Given the description of an element on the screen output the (x, y) to click on. 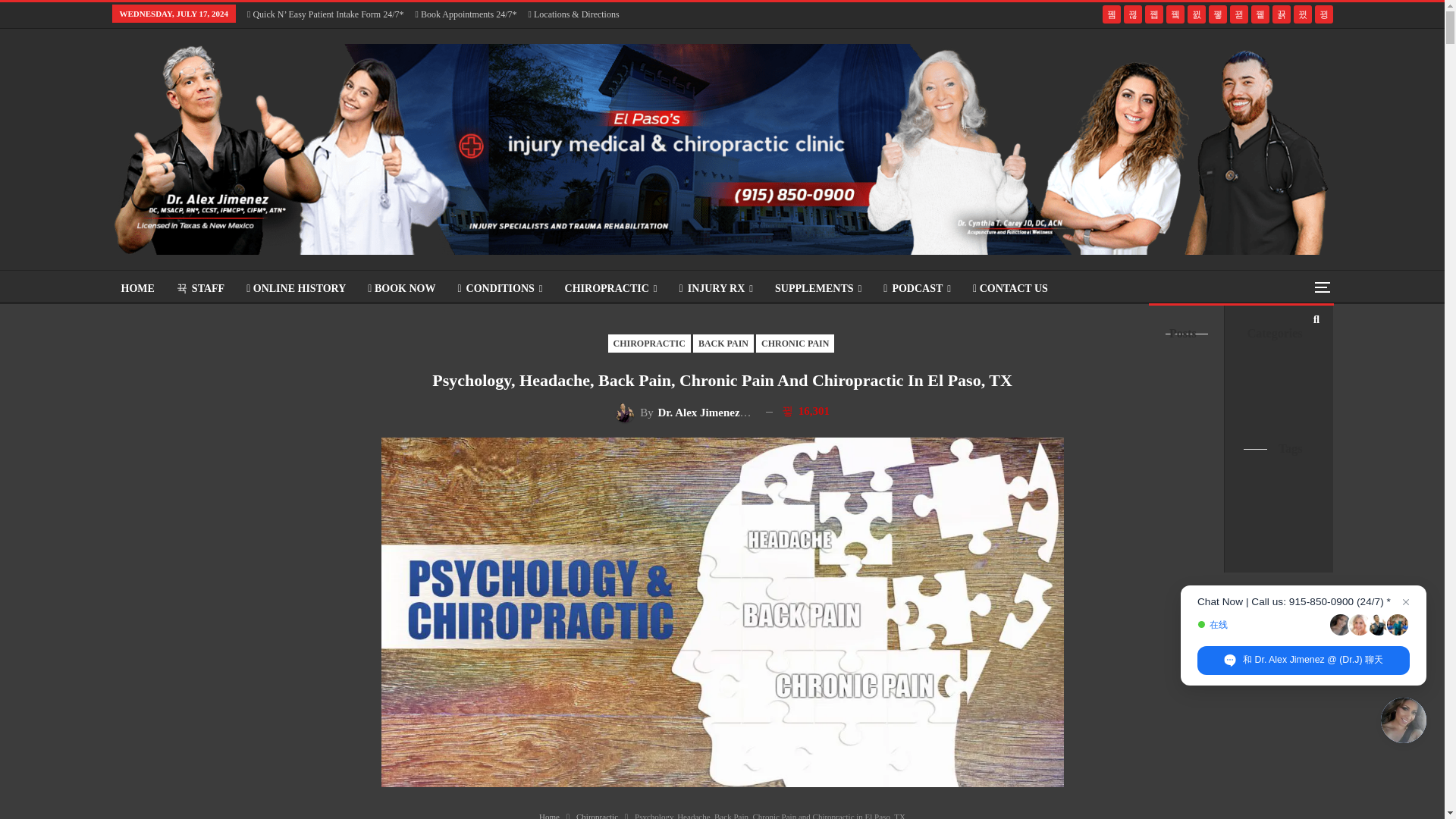
Browse Author Articles (684, 411)
